Given the description of an element on the screen output the (x, y) to click on. 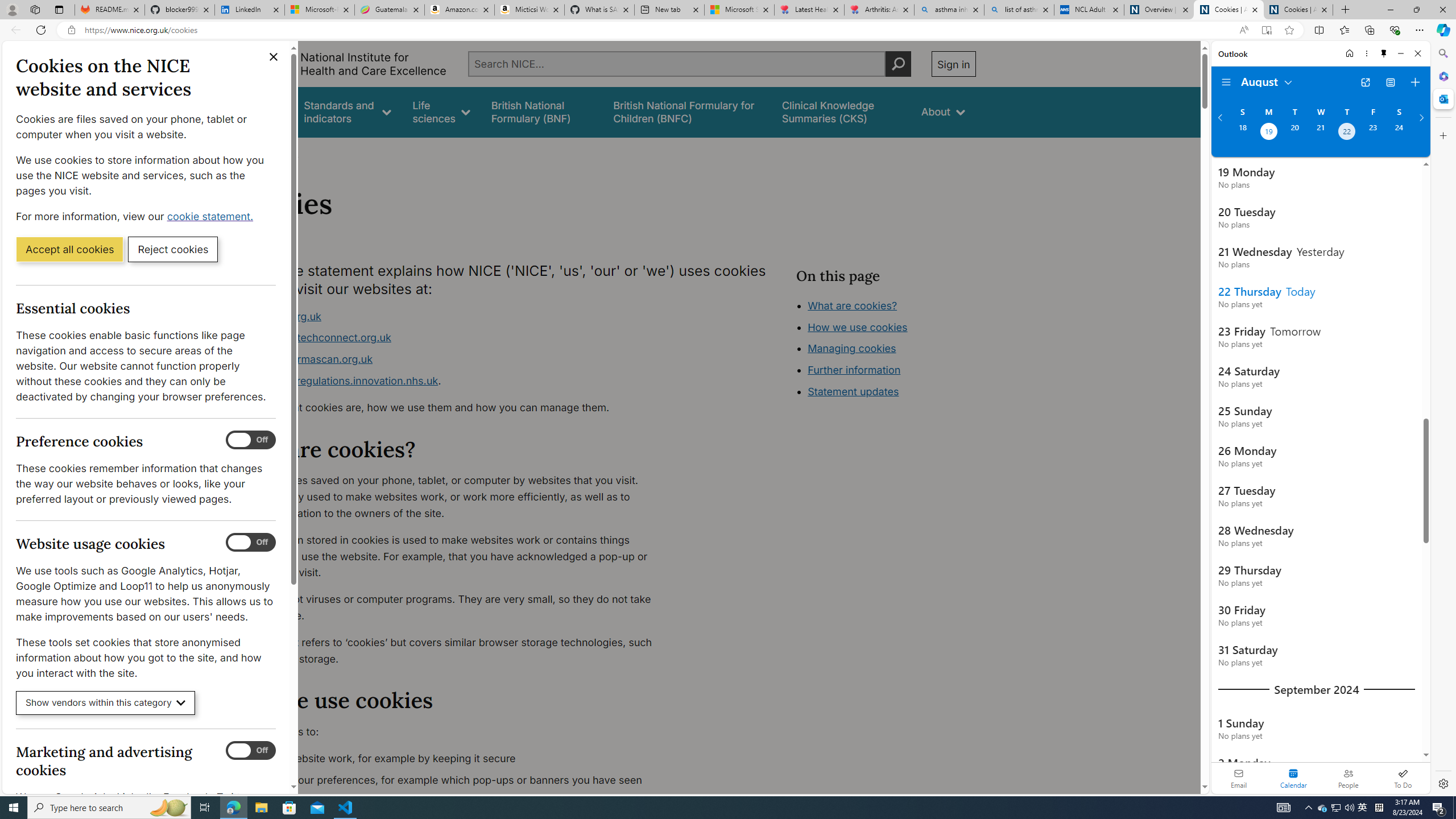
View site information (70, 29)
Favorites (1344, 29)
Create event (1414, 82)
Search (1442, 53)
August (1267, 80)
Copilot (Ctrl+Shift+.) (1442, 29)
About (942, 111)
Personal Profile (12, 9)
Wednesday, August 21, 2024.  (1320, 132)
New Tab (1346, 9)
www.digitalregulations.innovation.nhs.uk. (452, 380)
